Given the description of an element on the screen output the (x, y) to click on. 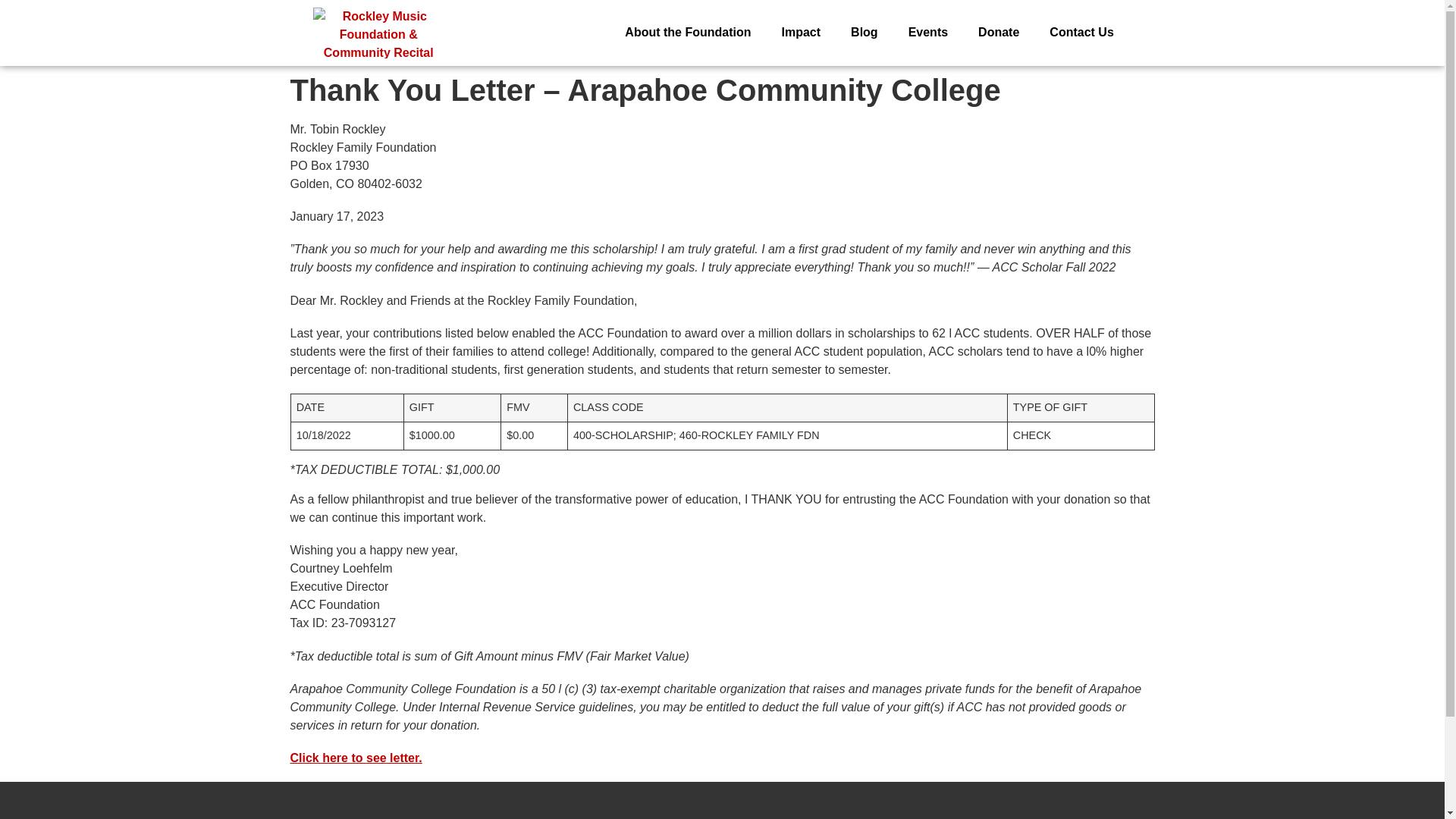
Click here to see letter. (355, 757)
Events (927, 32)
Blog (864, 32)
About the Foundation (687, 32)
Impact (801, 32)
Donate (997, 32)
Contact Us (1080, 32)
